Given the description of an element on the screen output the (x, y) to click on. 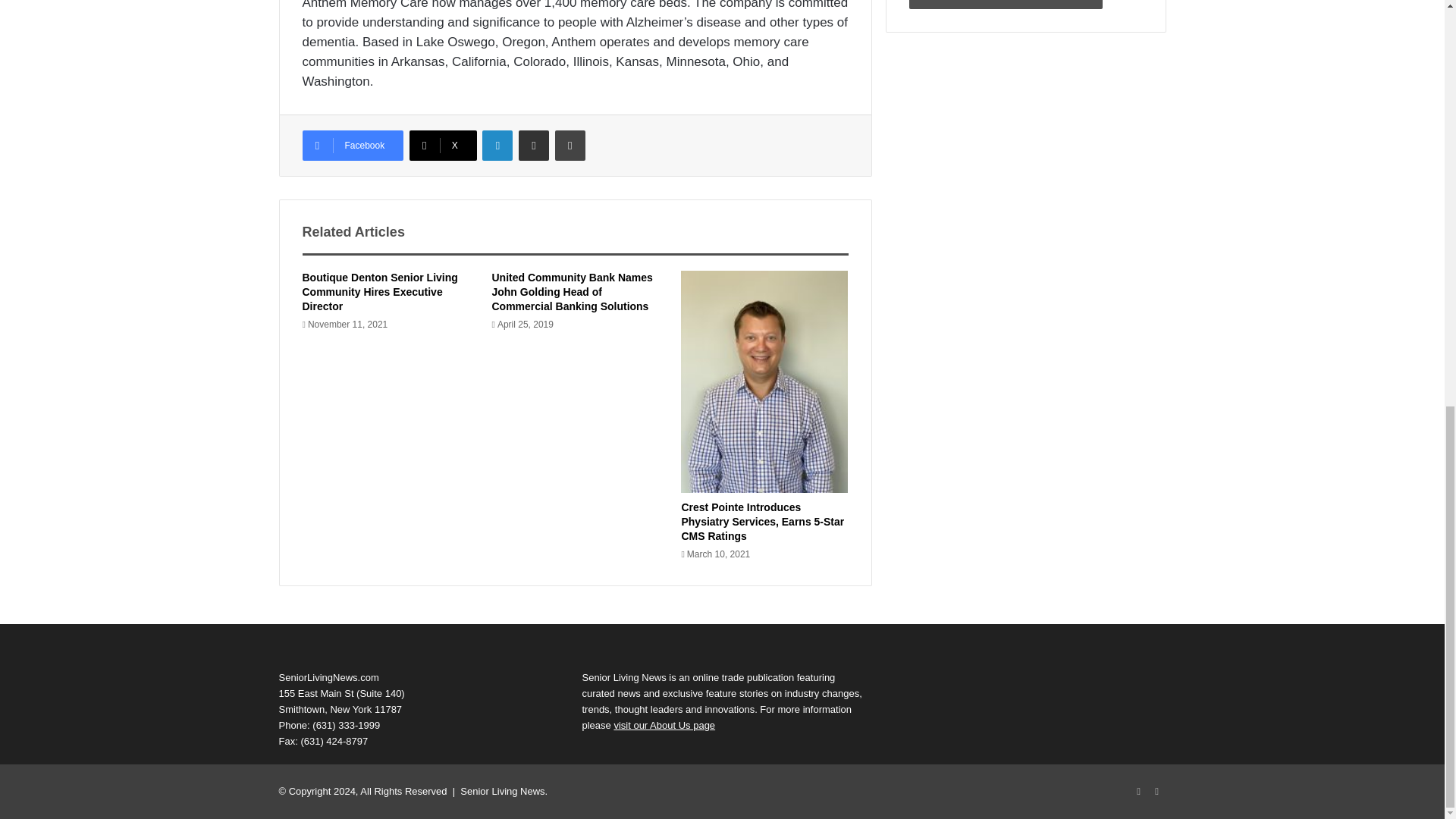
Facebook (1138, 791)
Share via Email (533, 145)
X (443, 145)
LinkedIn (1157, 791)
LinkedIn (496, 145)
Share via Email (533, 145)
LinkedIn (496, 145)
X (443, 145)
Facebook (352, 145)
